Given the description of an element on the screen output the (x, y) to click on. 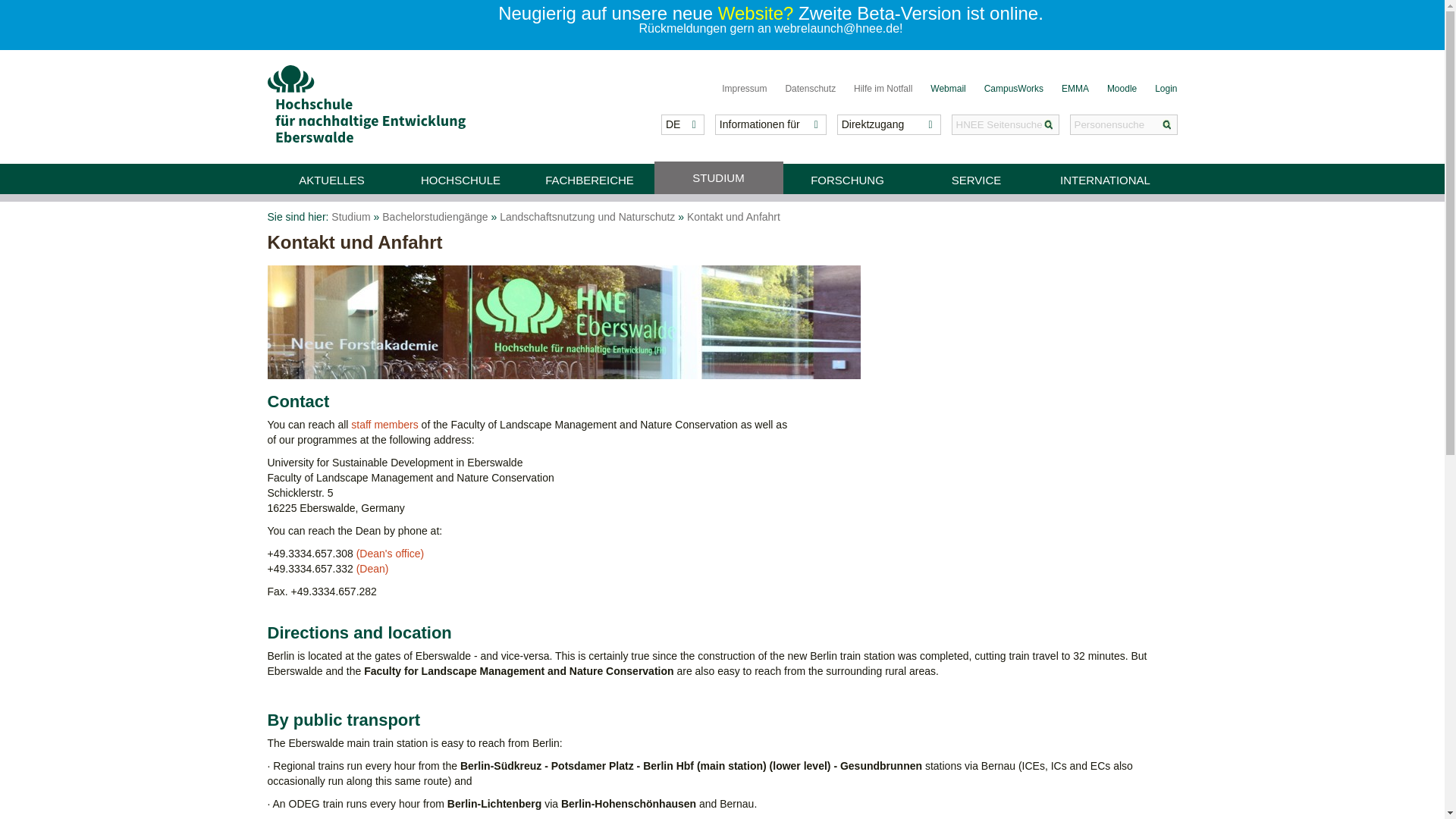
Moodle (1121, 88)
Personensuche (1122, 124)
HNEE Seitensuche (1005, 124)
Webmail (947, 88)
Datenschutz (809, 88)
CampusWorks (1013, 88)
Impressum (744, 88)
Login (1165, 88)
EMMA (1075, 88)
Hilfe im Notfall (882, 88)
